Given the description of an element on the screen output the (x, y) to click on. 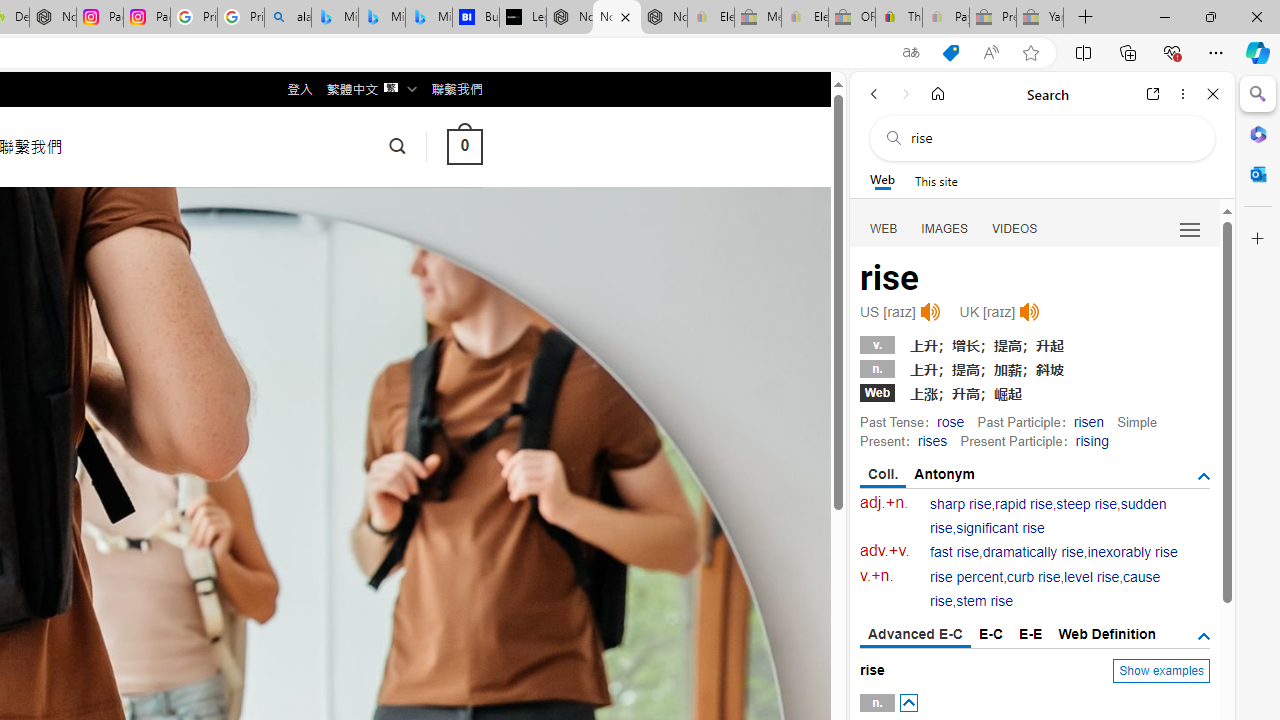
Press Room - eBay Inc. - Sleeping (993, 17)
rising (1091, 440)
Web scope (882, 180)
rapid rise (1023, 503)
Web Definition (1106, 633)
This site scope (936, 180)
